Given the description of an element on the screen output the (x, y) to click on. 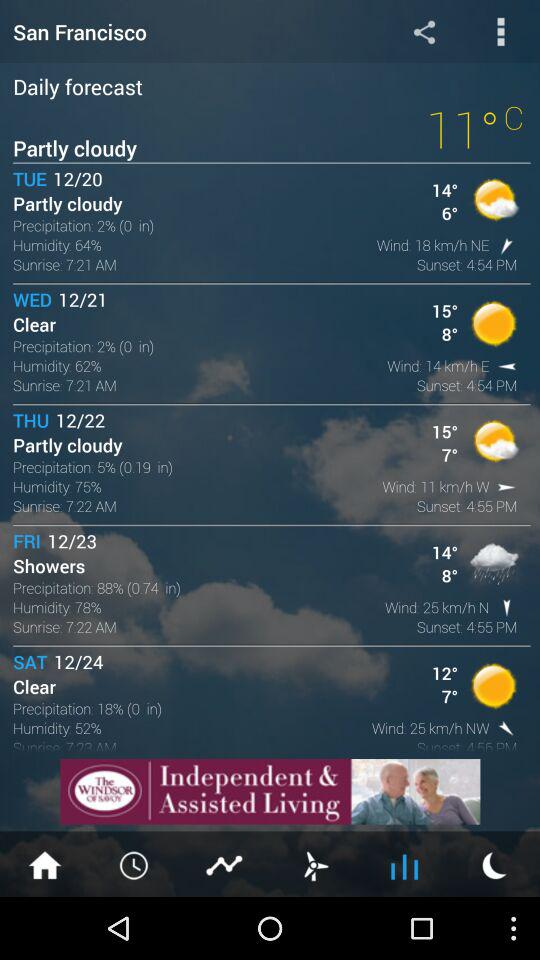
clock option (135, 864)
